Given the description of an element on the screen output the (x, y) to click on. 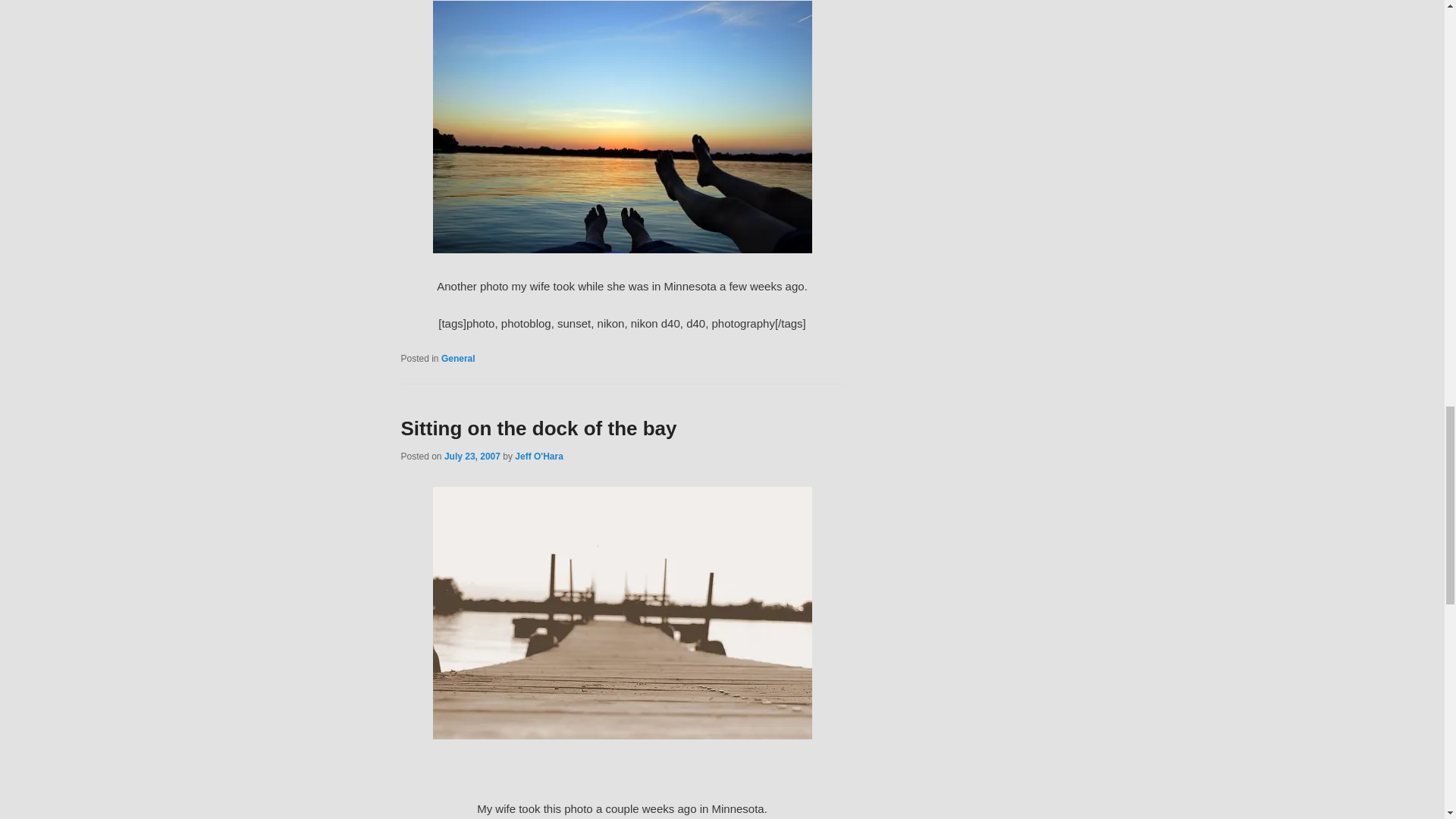
6:08 pm (472, 456)
Sitting on the dock of the bay (538, 427)
July 23, 2007 (472, 456)
Minnesota Sunset (621, 126)
Sitting on the dock of the bay (621, 612)
View all posts by Jeff O'Hara (539, 456)
Jeff O'Hara (539, 456)
General (458, 357)
Minnesota Sunset (621, 248)
